Given the description of an element on the screen output the (x, y) to click on. 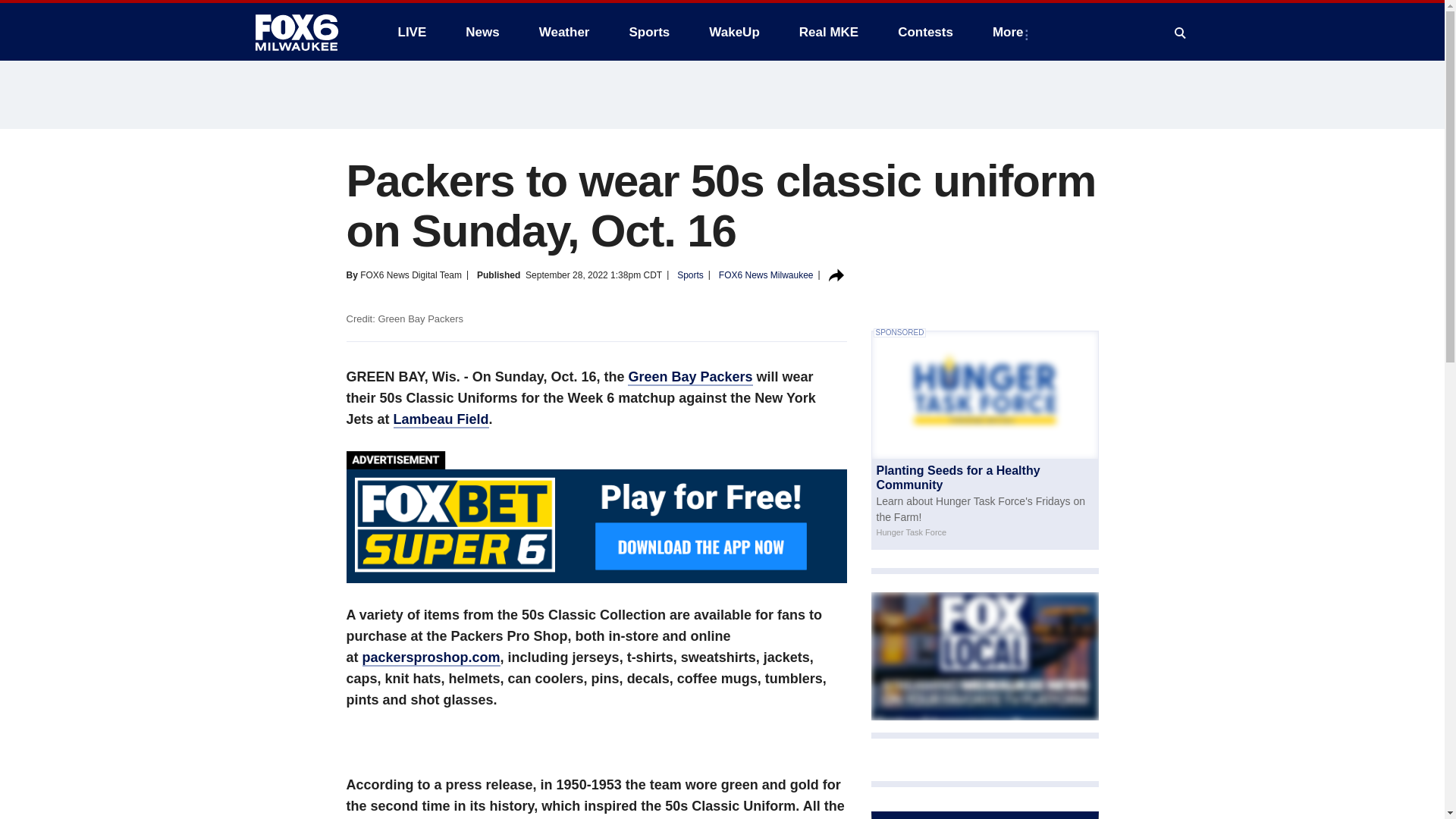
LIVE (411, 32)
More (1010, 32)
Sports (648, 32)
WakeUp (734, 32)
Contests (925, 32)
Real MKE (828, 32)
Weather (564, 32)
News (481, 32)
